Given the description of an element on the screen output the (x, y) to click on. 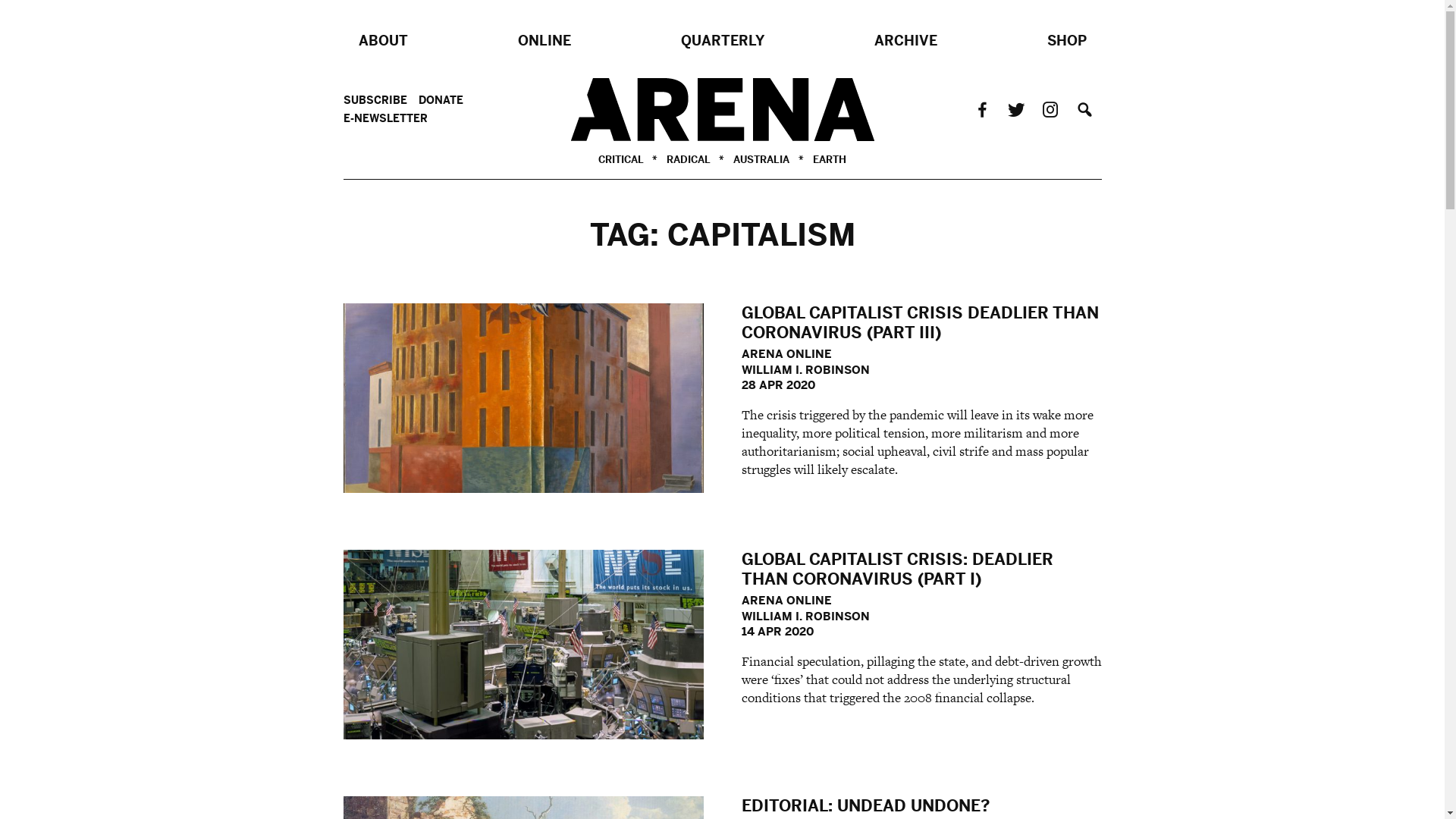
Search Element type: hover (1084, 109)
DONATE Element type: text (446, 100)
Global Capitalist Crisis: Deadlier than Coronavirus (Part I) Element type: hover (522, 644)
Twitter Element type: hover (1016, 109)
CRITICAL * RADICAL * AUSTRALIA * EARTH Element type: text (721, 109)
Instagram Element type: hover (1049, 109)
ARENA ONLINE Element type: text (786, 353)
ARCHIVE Element type: text (904, 40)
GLOBAL CAPITALIST CRISIS: DEADLIER THAN CORONAVIRUS (PART I) Element type: text (897, 569)
ABOUT Element type: text (382, 40)
QUARTERLY Element type: text (722, 40)
ARENA ONLINE Element type: text (786, 600)
SUBSCRIBE Element type: text (379, 100)
WILLIAM I. ROBINSON Element type: text (805, 615)
ONLINE Element type: text (543, 40)
E-NEWSLETTER Element type: text (390, 118)
Facebook Element type: hover (981, 109)
SHOP Element type: text (1066, 40)
WILLIAM I. ROBINSON Element type: text (805, 369)
